Given the description of an element on the screen output the (x, y) to click on. 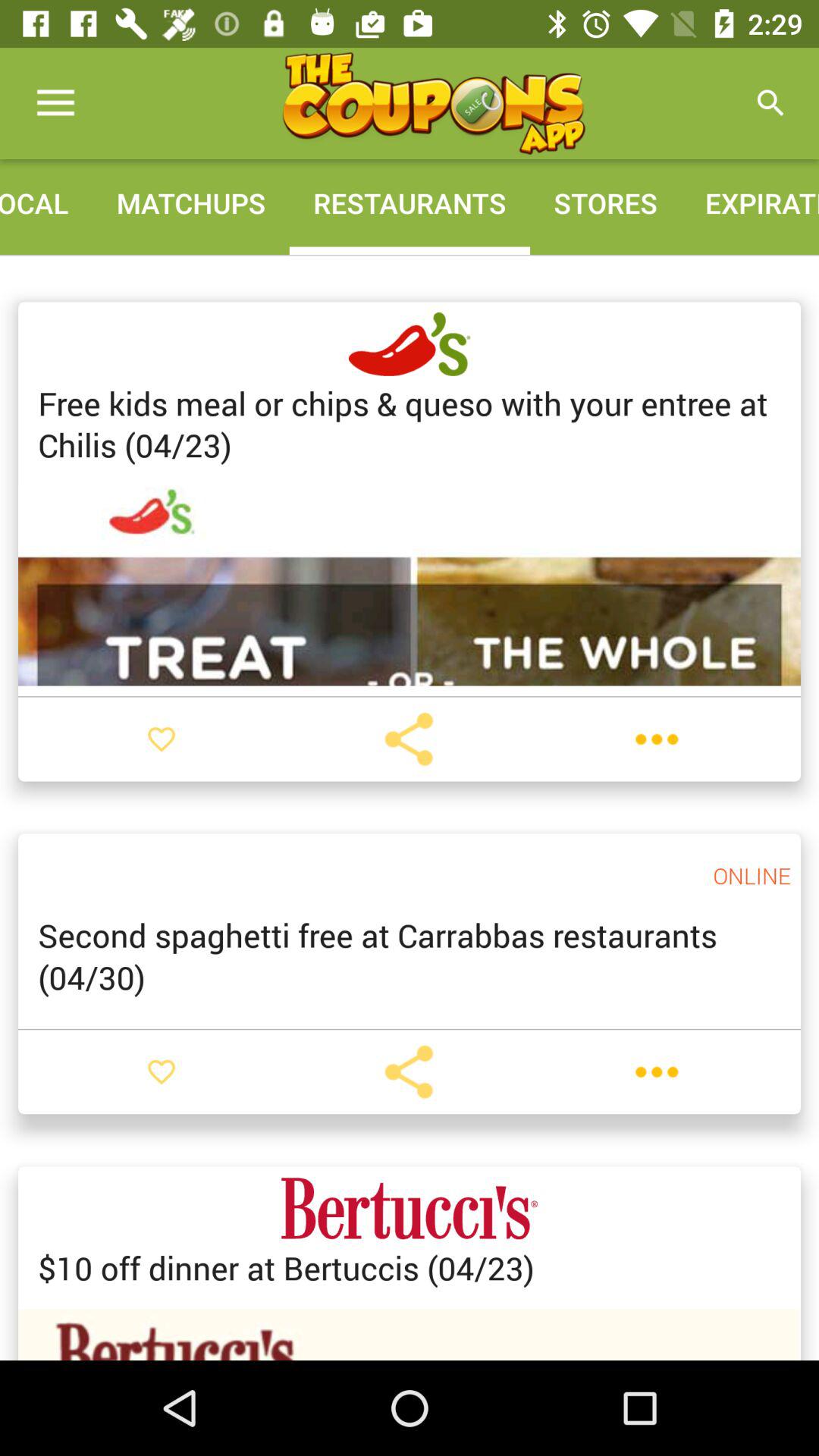
choose icon to the right of the restaurants item (605, 202)
